Given the description of an element on the screen output the (x, y) to click on. 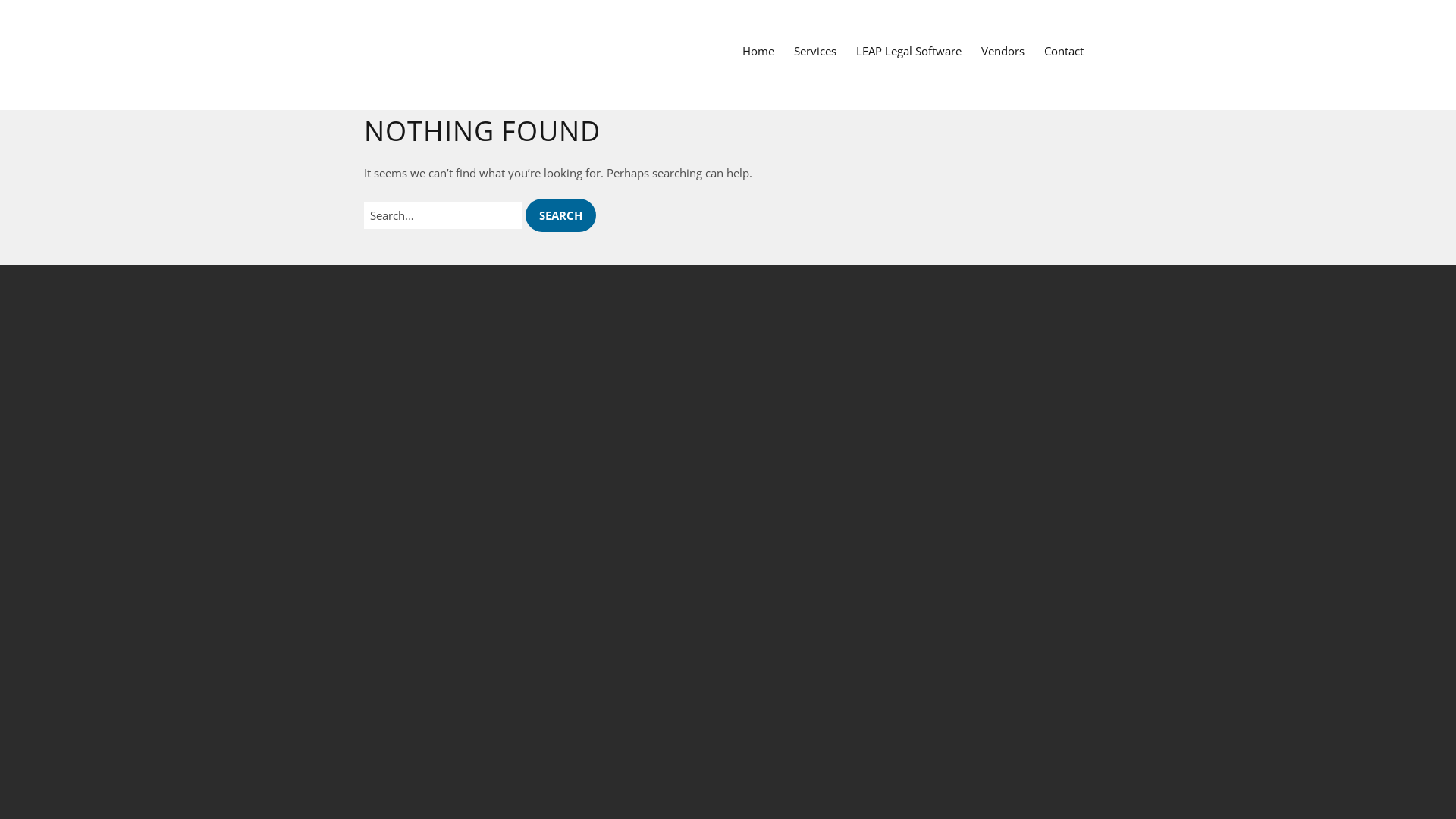
Home Element type: text (758, 50)
Press Enter to submit your search Element type: hover (443, 215)
Contact Element type: text (1063, 50)
Services Element type: text (814, 50)
Vendors Element type: text (1002, 50)
Search Element type: text (560, 215)
LEAP Legal Software Element type: text (908, 50)
